Given the description of an element on the screen output the (x, y) to click on. 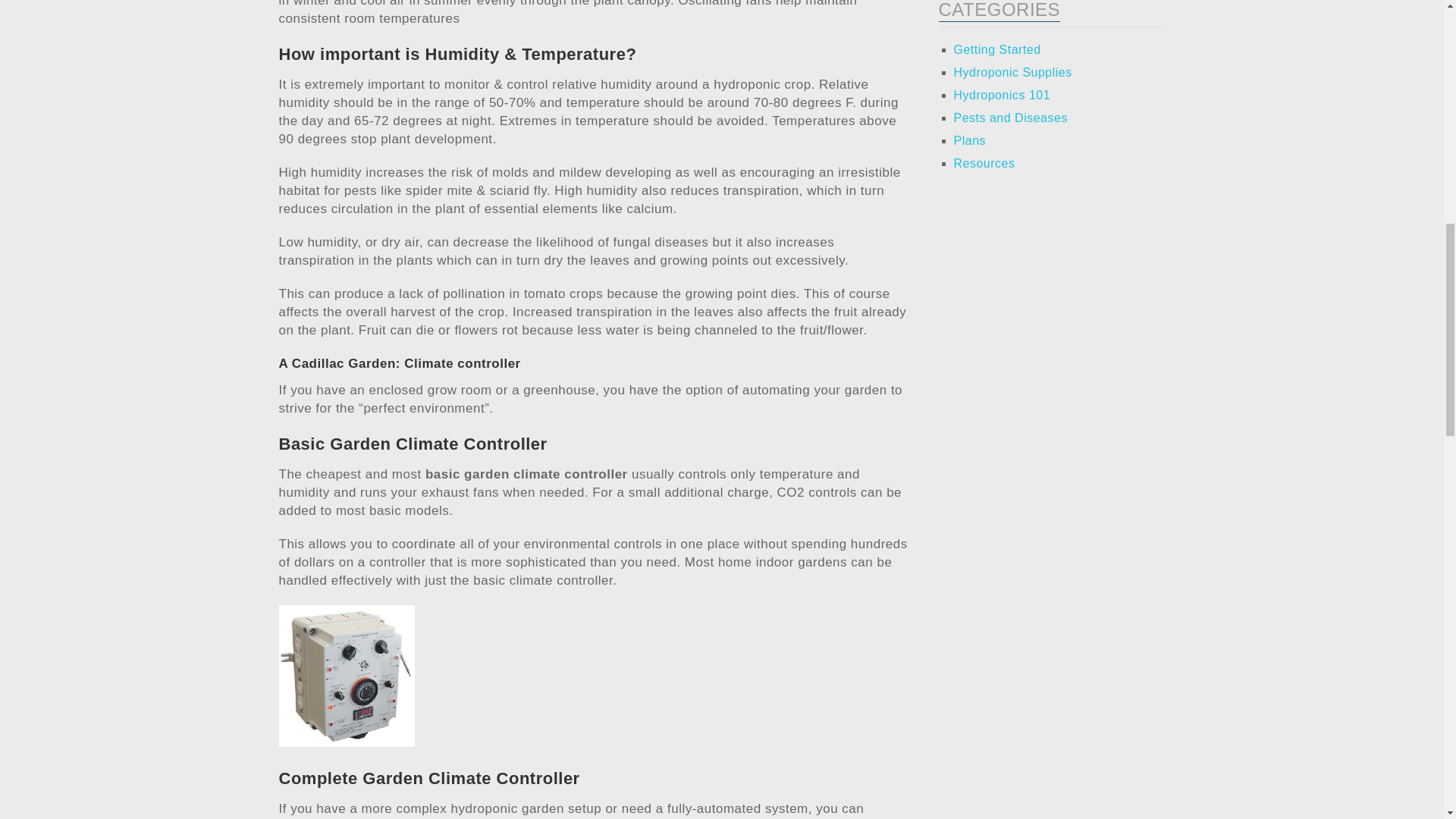
Pests and Diseases (1010, 117)
Plans (970, 140)
Hydroponics 101 (1002, 94)
Getting Started (997, 49)
Resources (983, 163)
Hydroponic Supplies (1012, 72)
